Given the description of an element on the screen output the (x, y) to click on. 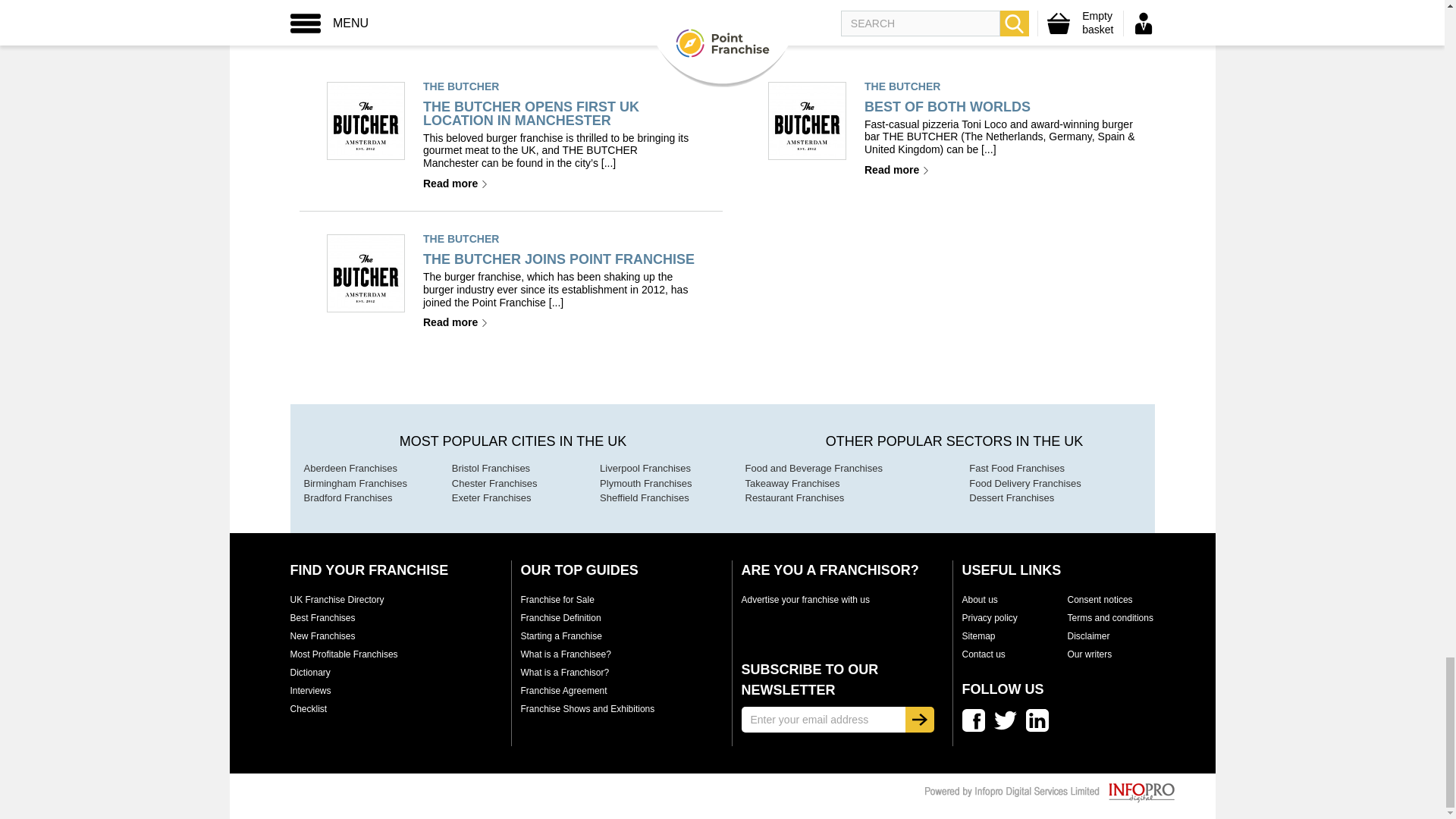
Find the most profitable UK franchises (343, 654)
Discover UK's best franchises (322, 617)
The full UK franchise directory (336, 599)
Checklist (307, 708)
Dictionary (309, 672)
Interviews (309, 690)
Discover the newest franchises (322, 635)
